Given the description of an element on the screen output the (x, y) to click on. 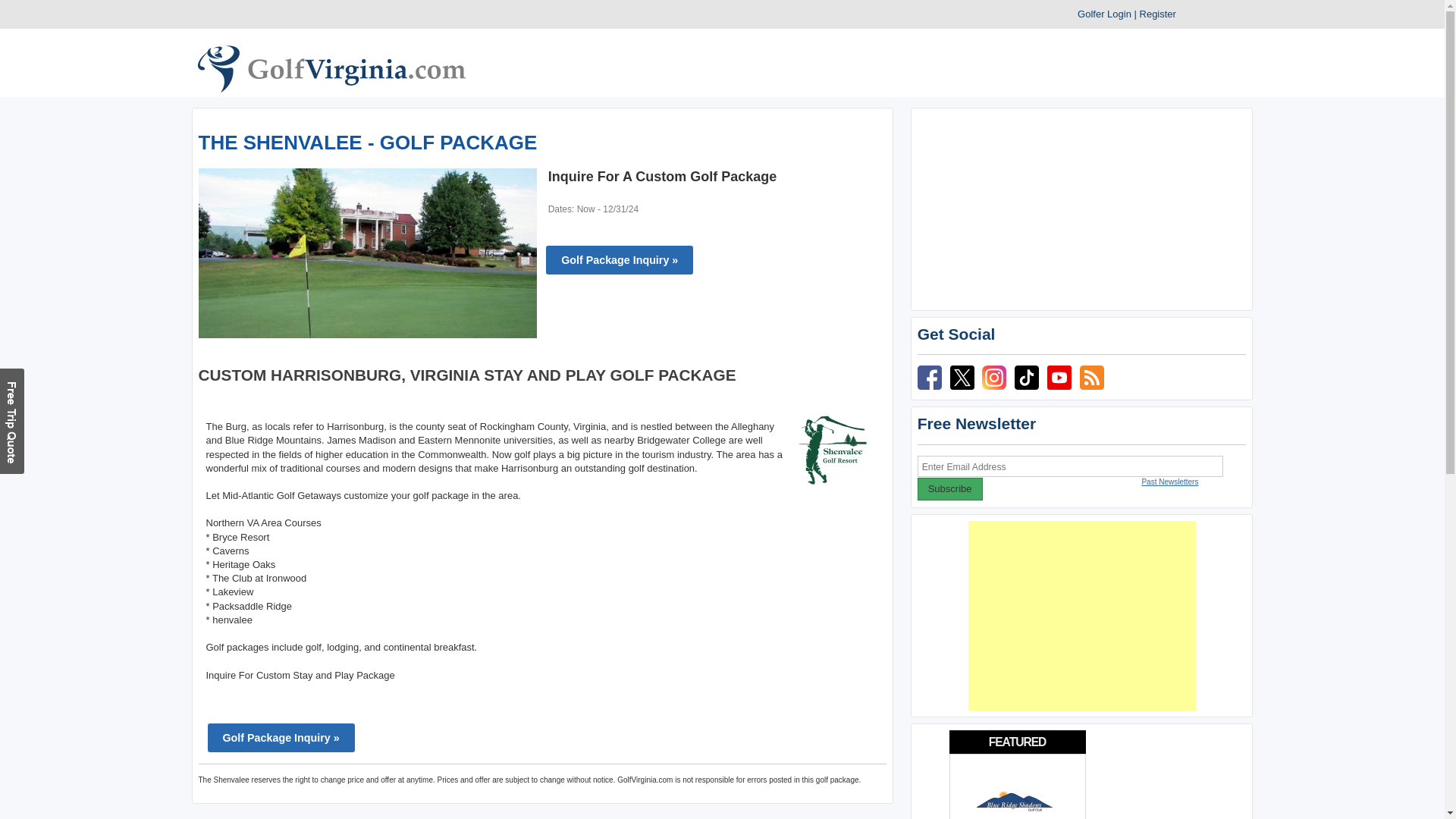
Advertisement (1081, 615)
Subscribe (949, 488)
Register (1158, 13)
Golfer Login (1104, 13)
